Given the description of an element on the screen output the (x, y) to click on. 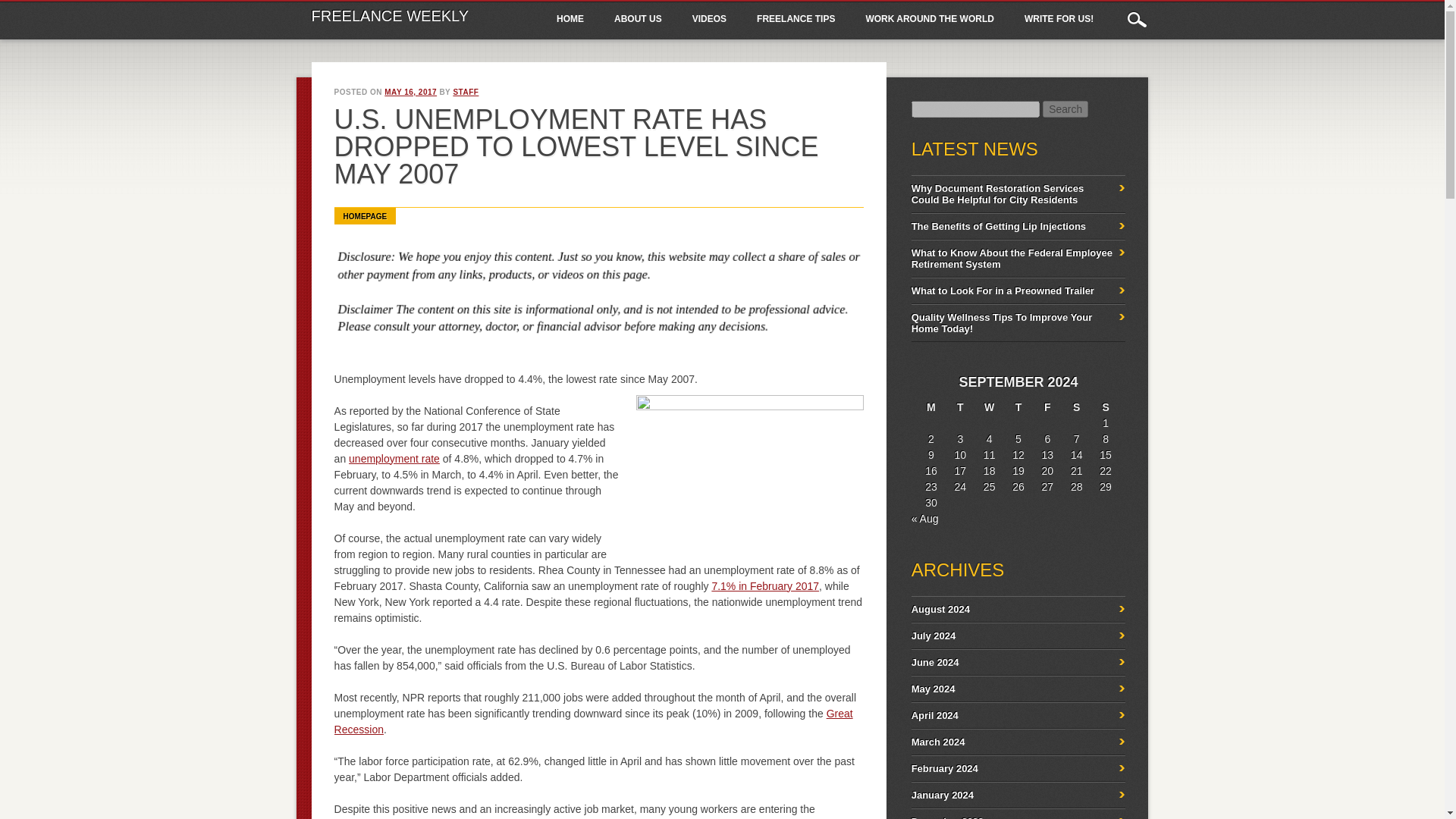
Search (1064, 108)
Monday (930, 407)
July 2024 (933, 635)
HOMEPAGE (365, 216)
STAFF (465, 91)
WRITE FOR US! (1058, 20)
January 2024 (942, 794)
Freelance Weekly (389, 15)
Quality Wellness Tips To Improve Your Home Today! (1002, 323)
What to Look For in a Preowned Trailer (1002, 290)
